Given the description of an element on the screen output the (x, y) to click on. 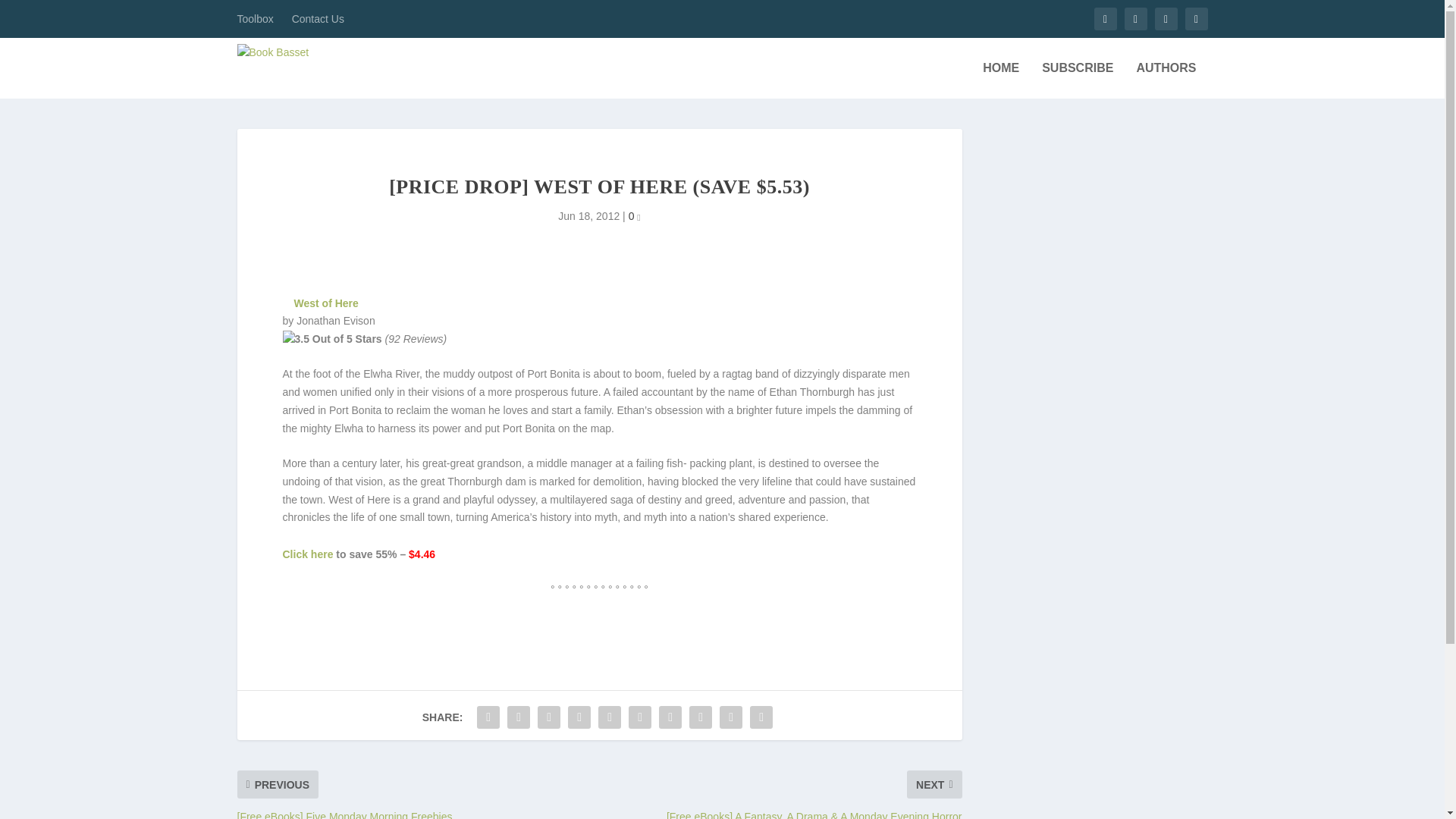
Click here (307, 553)
AUTHORS (1165, 80)
Toolbox (254, 18)
Contact Us (317, 18)
HOME (1000, 80)
0 (634, 215)
West of Here (326, 303)
SUBSCRIBE (1077, 80)
